Given the description of an element on the screen output the (x, y) to click on. 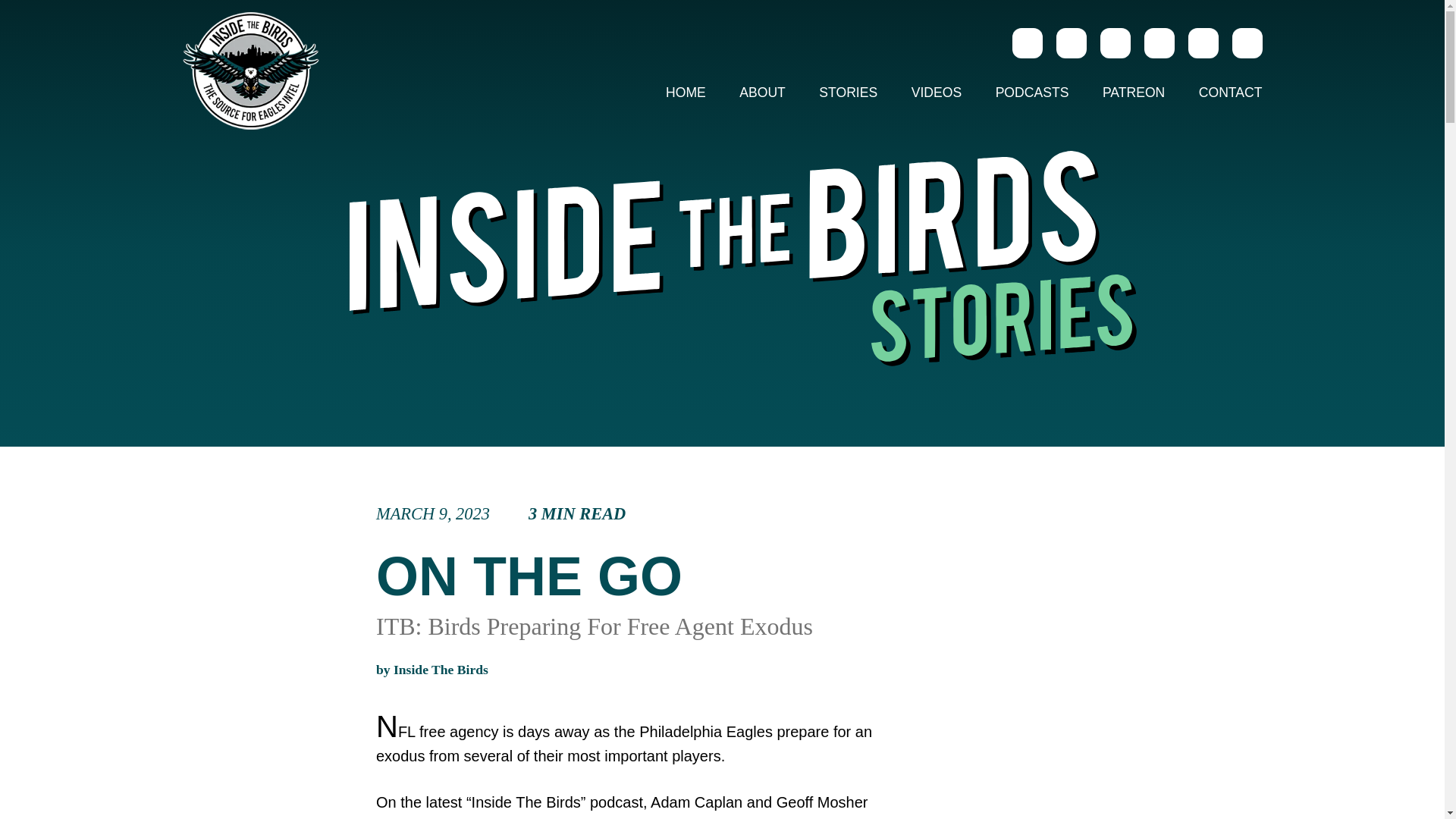
Patreon (1202, 42)
Twitter (1070, 42)
ABOUT (761, 92)
Facebook (1114, 42)
PODCASTS (1031, 92)
CONTACT (1222, 92)
HOME (685, 92)
Instagram (1026, 42)
Inside The Birds (440, 669)
PATREON (1133, 92)
